Given the description of an element on the screen output the (x, y) to click on. 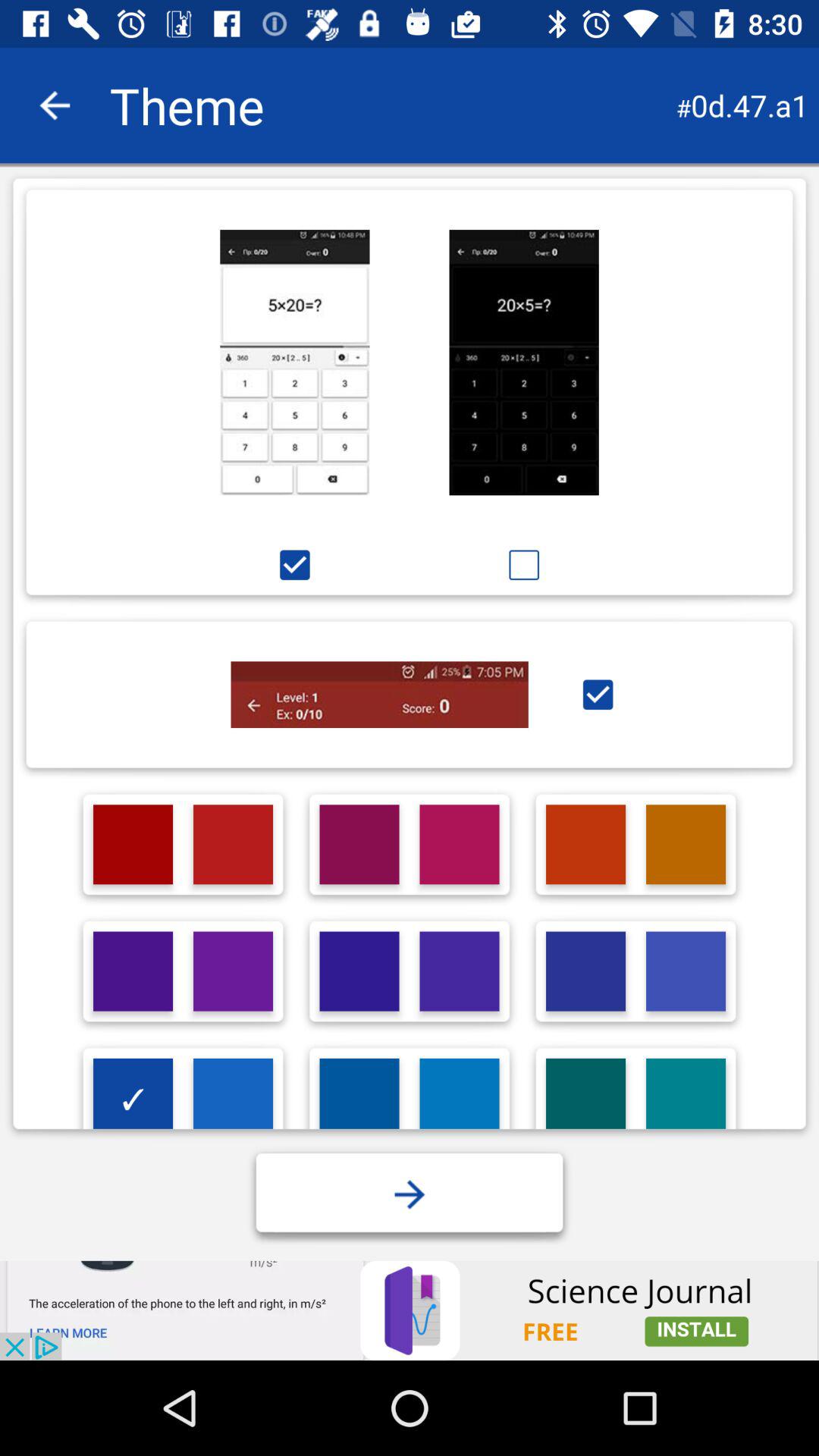
back face (54, 105)
